Given the description of an element on the screen output the (x, y) to click on. 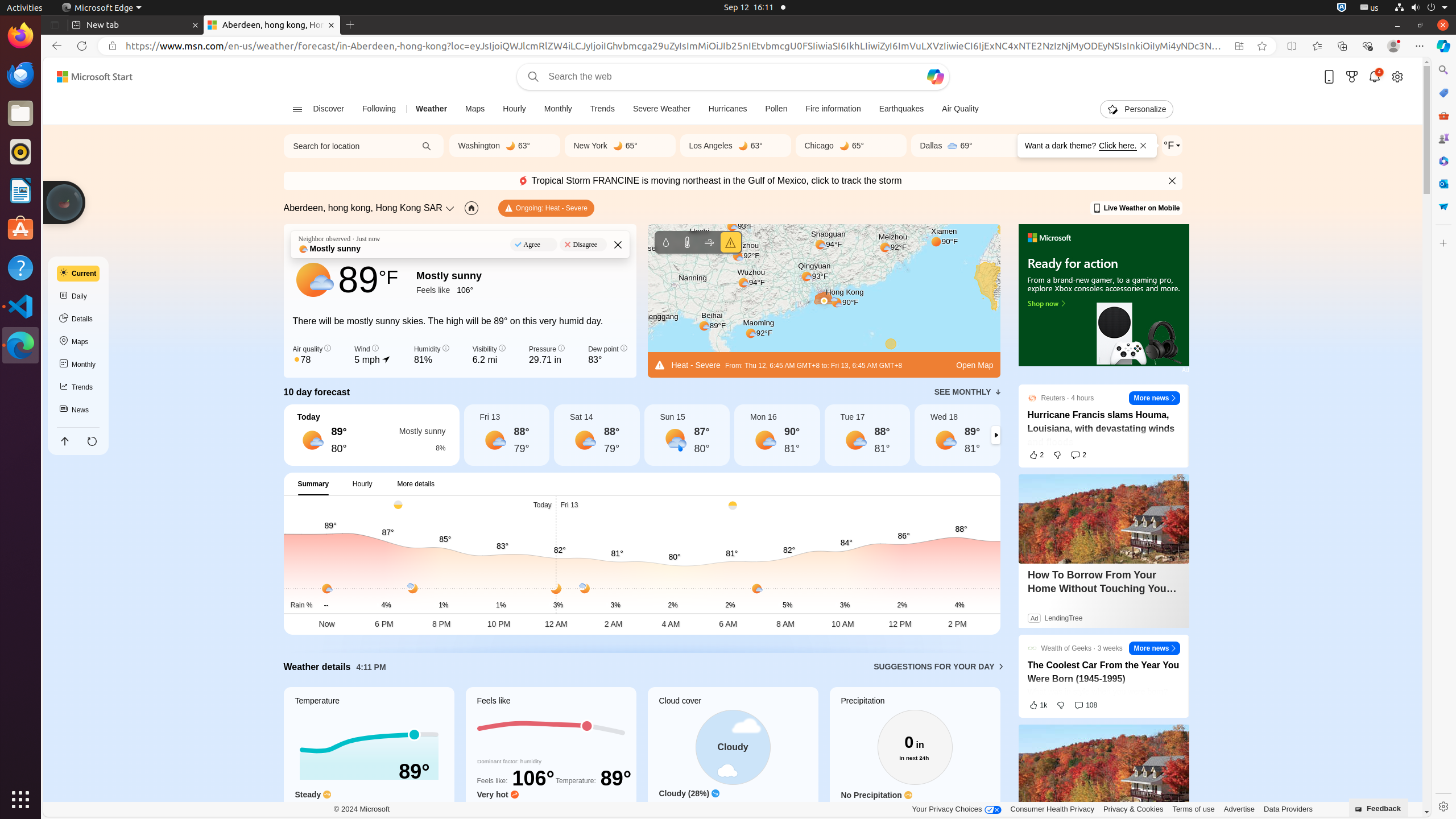
Copilot (Ctrl+Shift+.) Element type: push-button (1443, 45)
Hourly Element type: link (514, 108)
To get missing image descriptions, open the context menu. Element type: link (1103, 295)
Open navigation menu Element type: push-button (296, 109)
Severe weather Element type: push-button (730, 242)
